Given the description of an element on the screen output the (x, y) to click on. 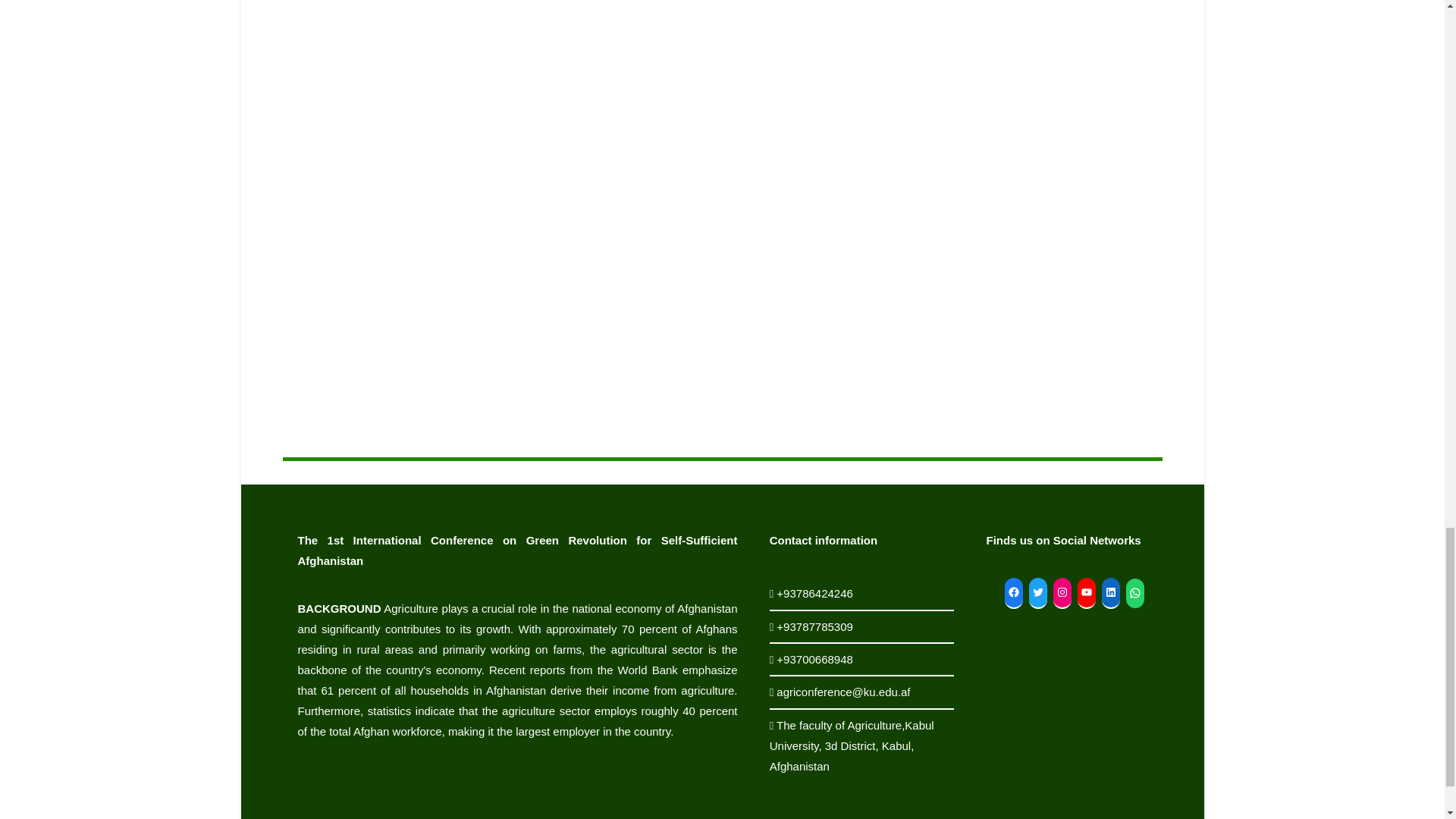
WhatsApp (1133, 592)
Twitter (1036, 592)
YouTube (1085, 592)
Facebook (1013, 592)
LinkedIn (1109, 592)
Instagram (1061, 592)
